Given the description of an element on the screen output the (x, y) to click on. 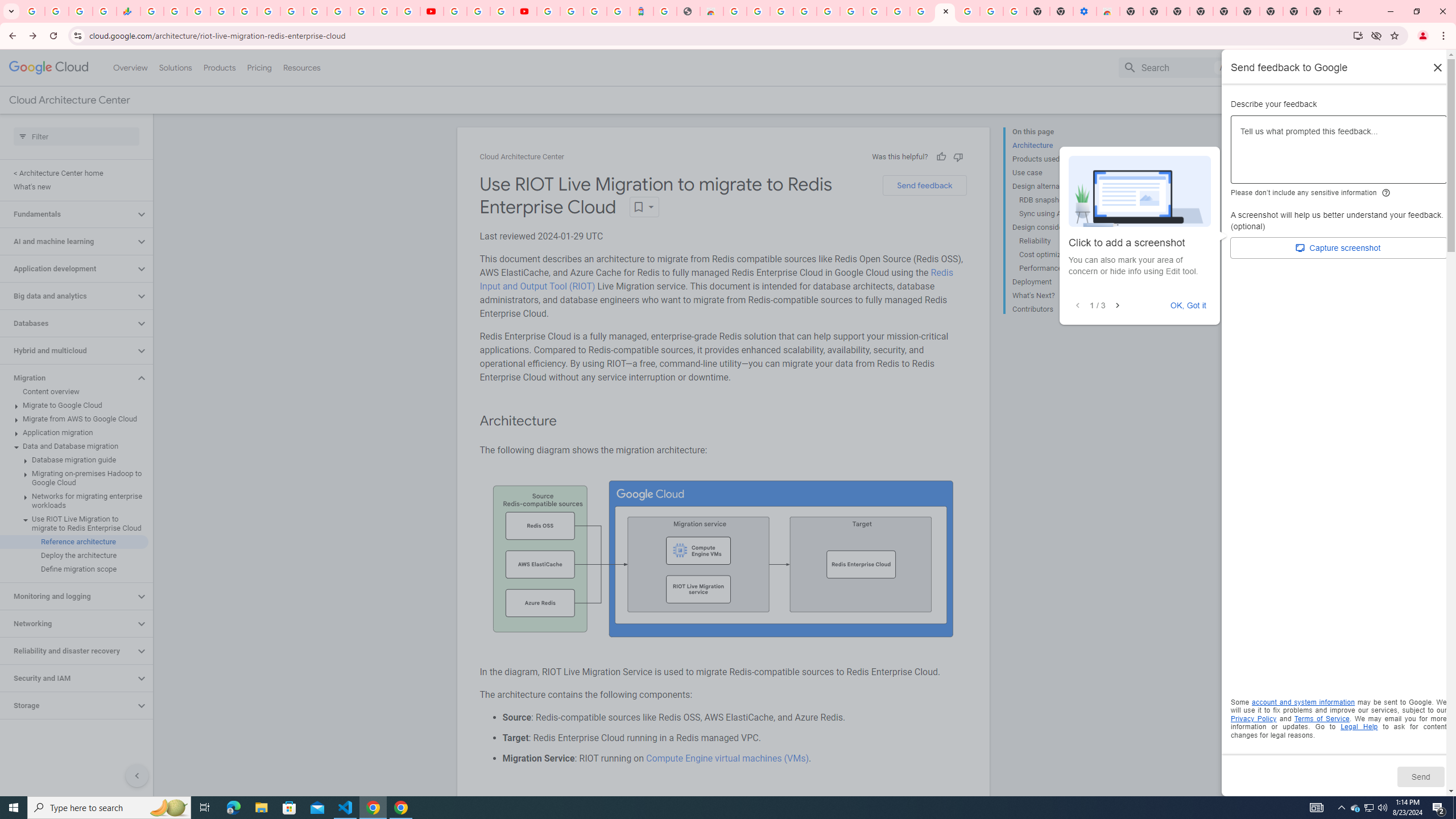
Opens in a new tab. Legal Help (1358, 727)
Design alternatives (1058, 186)
YouTube (431, 11)
Migrating on-premises Hadoop to Google Cloud (74, 477)
Solutions (175, 67)
